Given the description of an element on the screen output the (x, y) to click on. 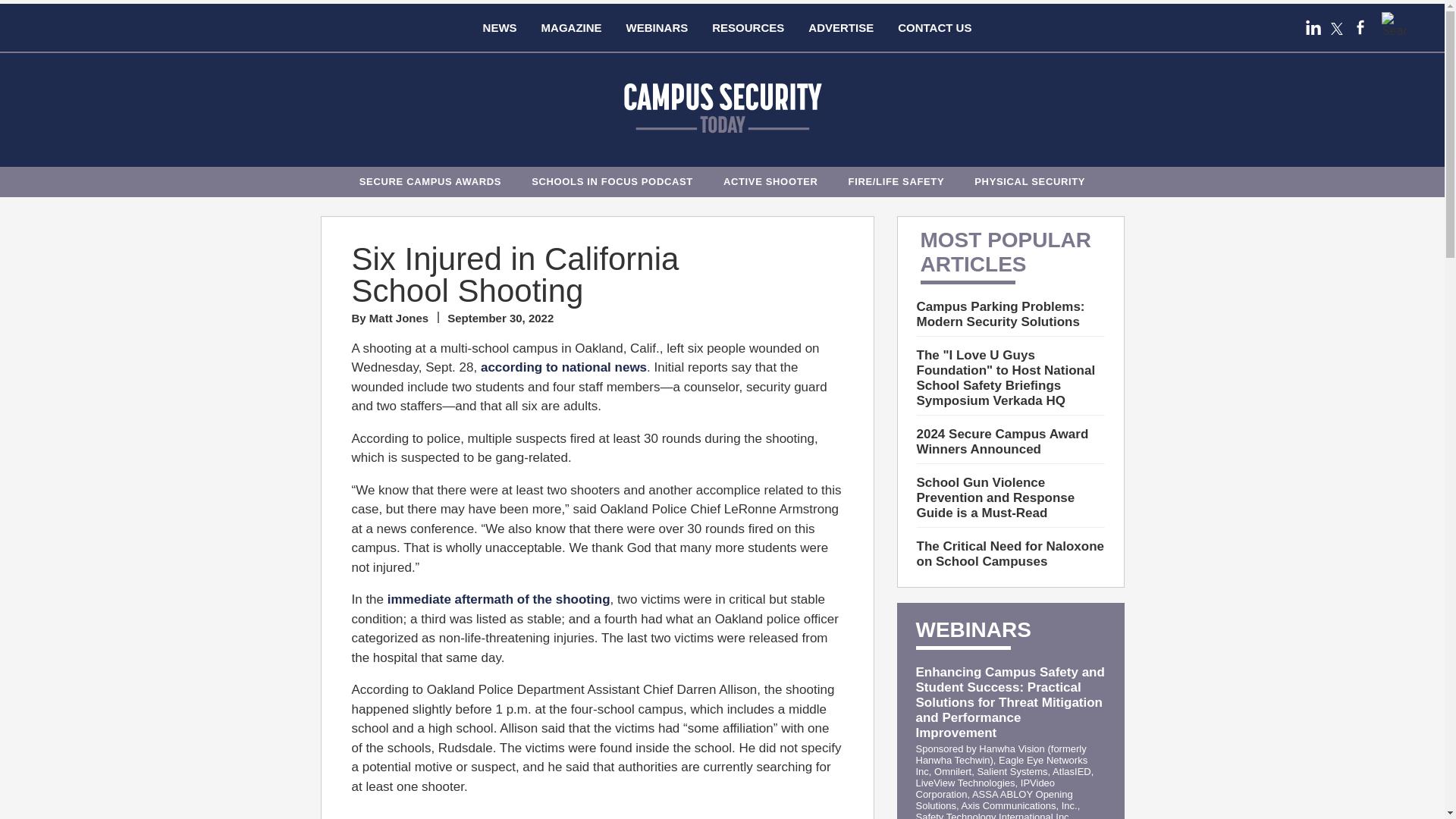
SECURE CAMPUS AWARDS (430, 179)
CONTACT US (934, 27)
according to national news (563, 367)
SCHOOLS IN FOCUS PODCAST (611, 179)
immediate aftermath of the shooting (498, 599)
ADVERTISE (840, 27)
WEBINARS (657, 27)
RESOURCES (747, 27)
MAGAZINE (571, 27)
PHYSICAL SECURITY (1029, 179)
NEWS (499, 27)
ACTIVE SHOOTER (770, 179)
